Given the description of an element on the screen output the (x, y) to click on. 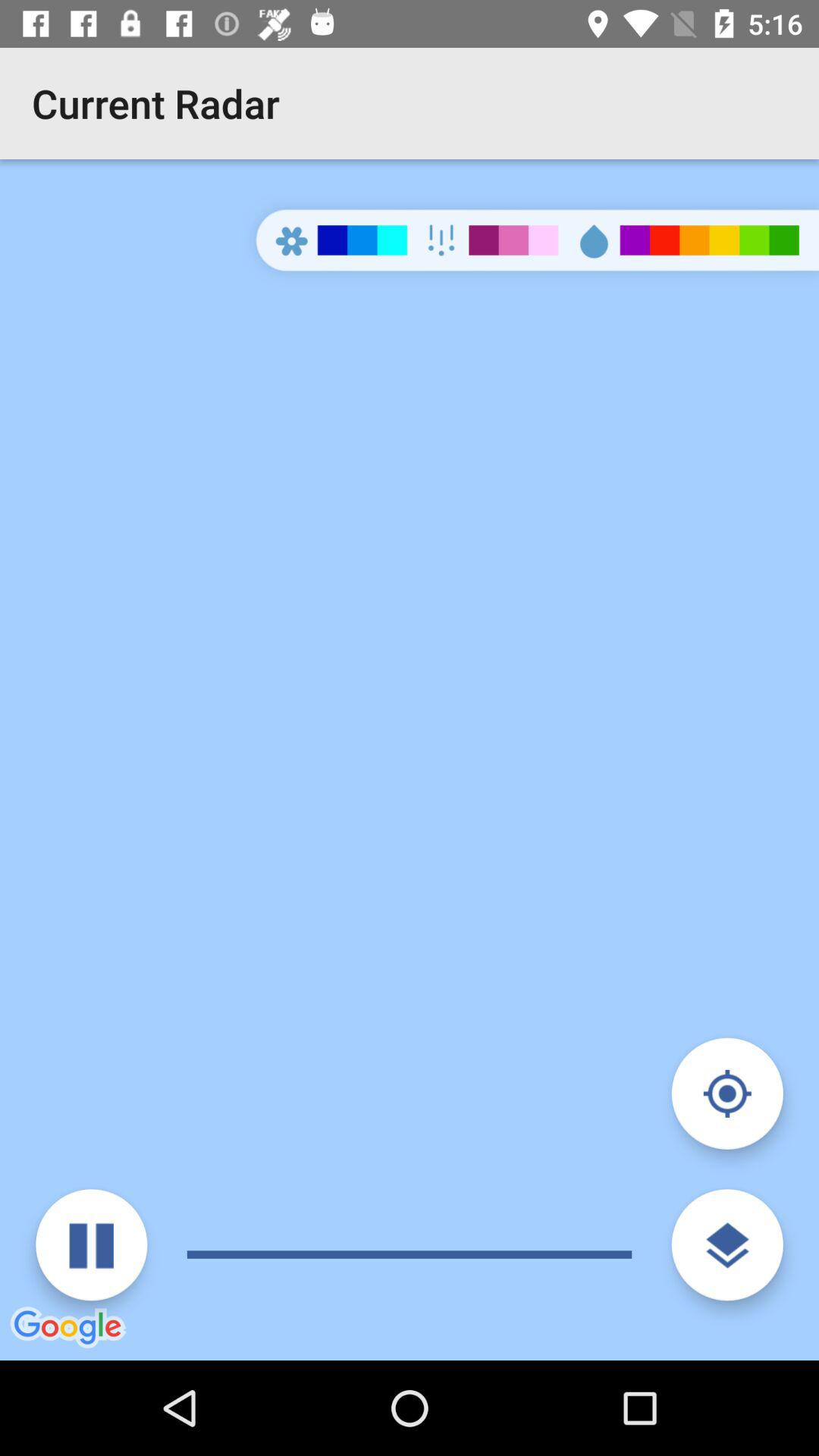
launch the icon below current radar (91, 1244)
